Given the description of an element on the screen output the (x, y) to click on. 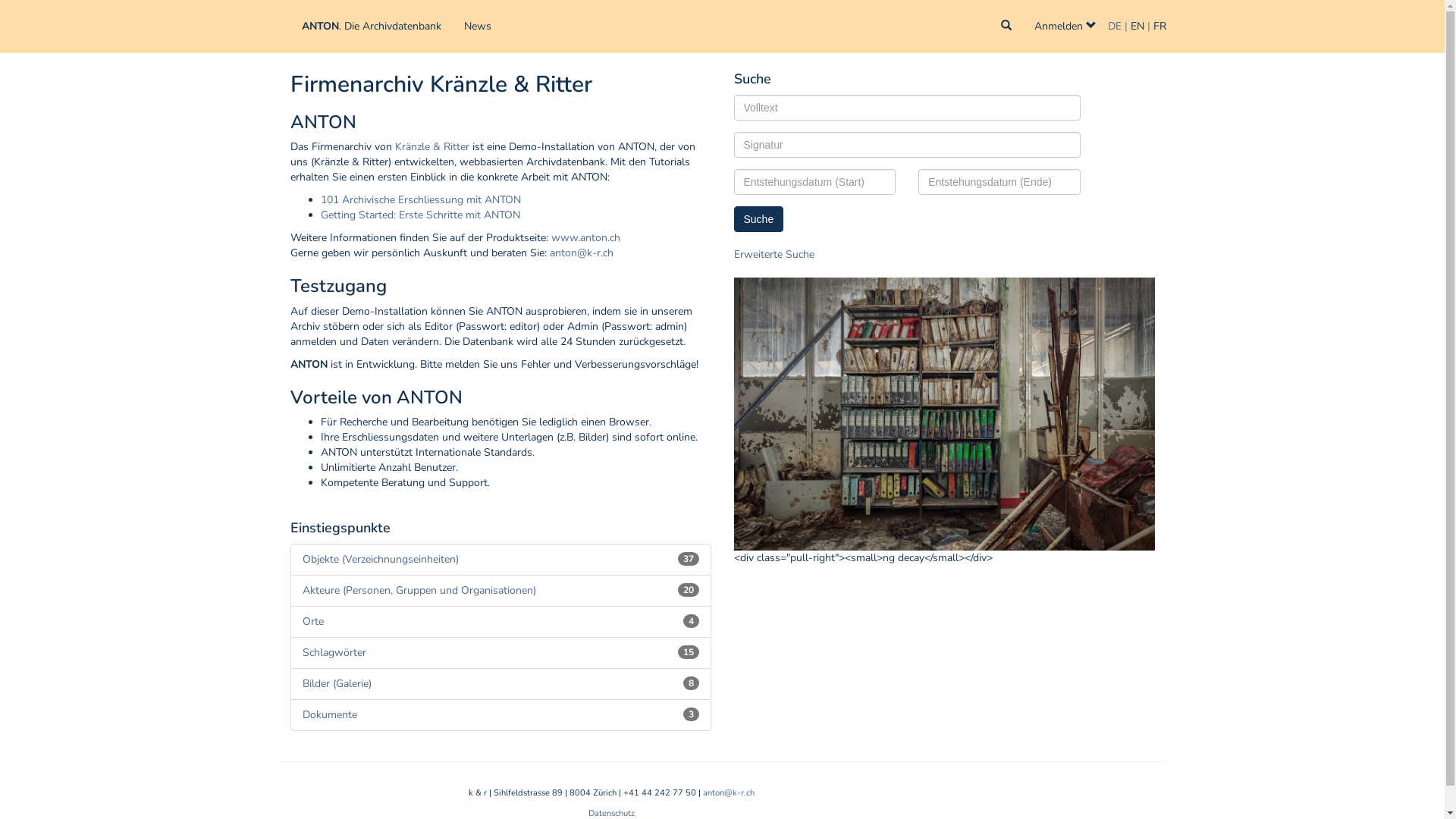
Getting Started: Erste Schritte mit ANTON Element type: text (419, 214)
EN Element type: text (1136, 25)
ANTON. Die Archivdatenbank Element type: text (370, 26)
anton@k-r.ch Element type: text (580, 252)
Suche Element type: text (759, 219)
anton@k-r.ch Element type: text (728, 792)
Akteure (Personen, Gruppen und Organisationen) Element type: text (418, 590)
www.anton.ch Element type: text (584, 237)
Objekte (Verzeichnungseinheiten) Element type: text (379, 559)
Erweiterte Suche Element type: text (774, 254)
DE Element type: text (1113, 25)
101 Archivische Erschliessung mit ANTON Element type: text (420, 199)
Orte Element type: text (312, 621)
Bilder (Galerie) Element type: text (335, 683)
News Element type: text (476, 26)
Dokumente Element type: text (328, 714)
Anmelden Element type: text (1064, 26)
FR Element type: text (1158, 25)
